Given the description of an element on the screen output the (x, y) to click on. 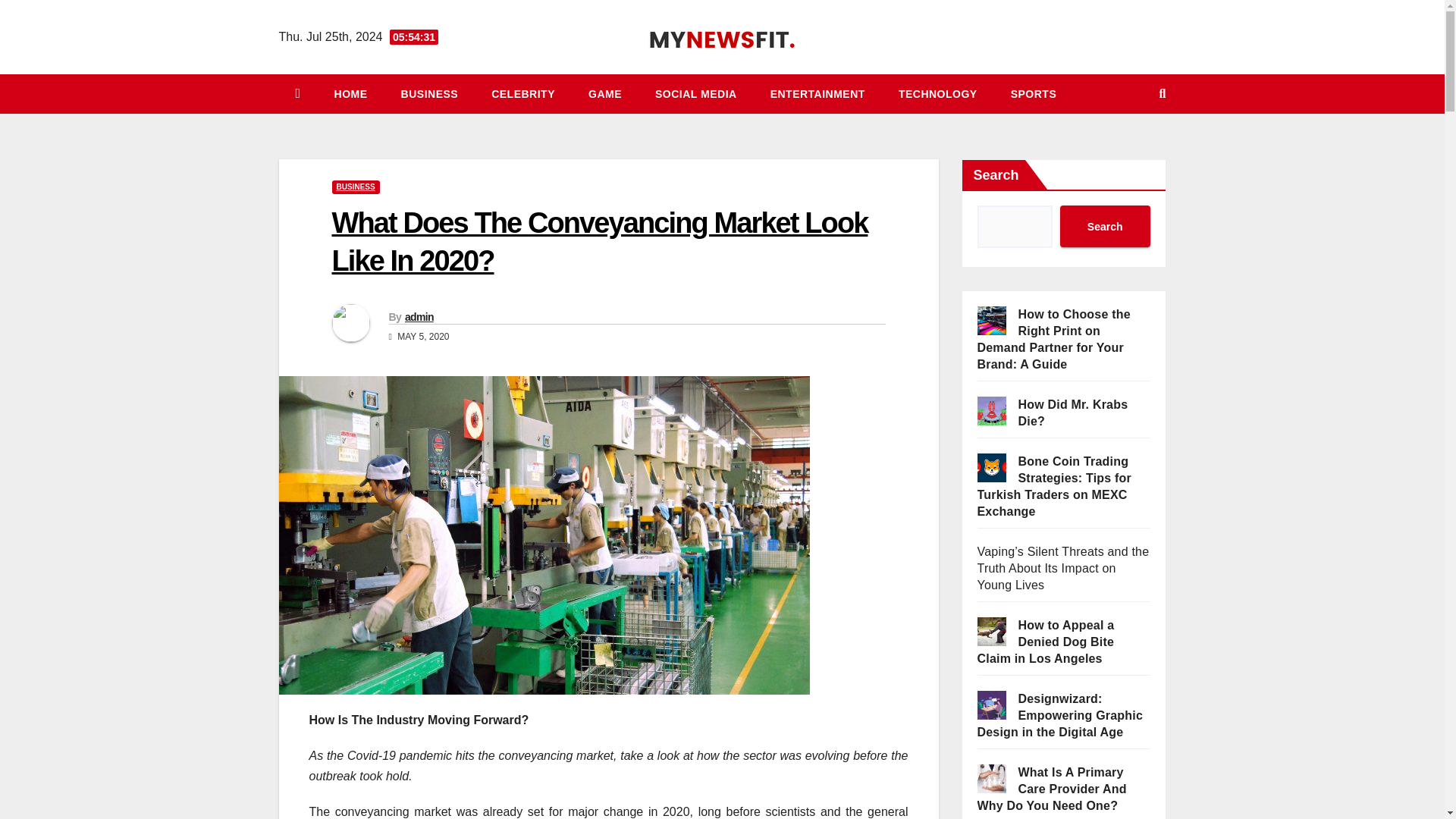
SOCIAL MEDIA (696, 93)
SPORTS (1034, 93)
Celebrity (523, 93)
Technology (938, 93)
Game (605, 93)
What Does The Conveyancing Market Look Like In 2020? (599, 241)
Sports (1034, 93)
Social Media (696, 93)
BUSINESS (430, 93)
HOME (350, 93)
BUSINESS (355, 187)
CELEBRITY (523, 93)
admin (418, 316)
Business (430, 93)
